Given the description of an element on the screen output the (x, y) to click on. 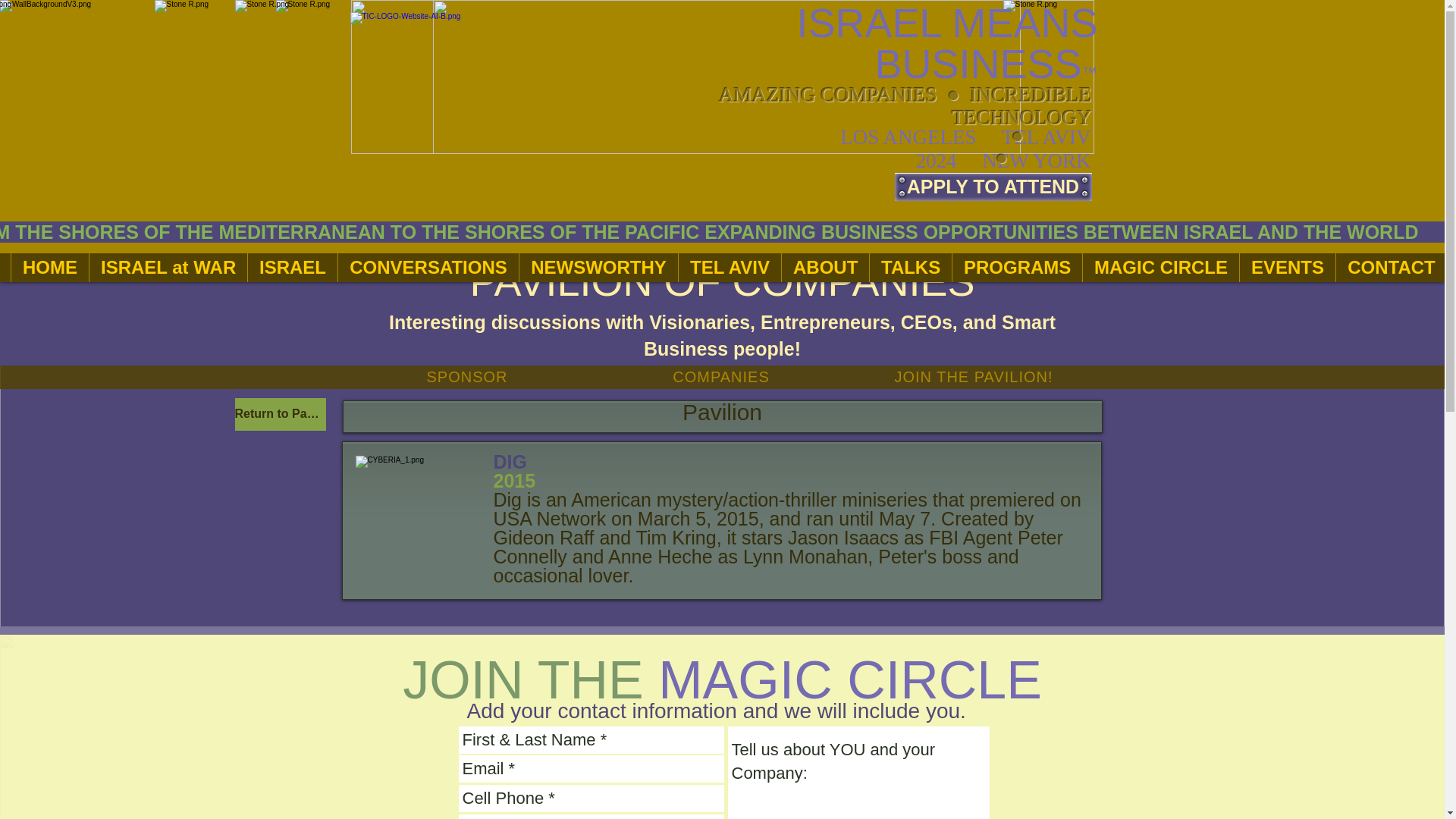
HOME (49, 267)
PROGRAMS (1016, 267)
CONVERSATIONS (427, 267)
TEL AVIV (729, 267)
ABOUT (824, 267)
SPONSOR (467, 377)
EVENTS (1287, 267)
Return to Pavilion (280, 414)
ISRAEL (292, 267)
COMPANIES (722, 377)
